Given the description of an element on the screen output the (x, y) to click on. 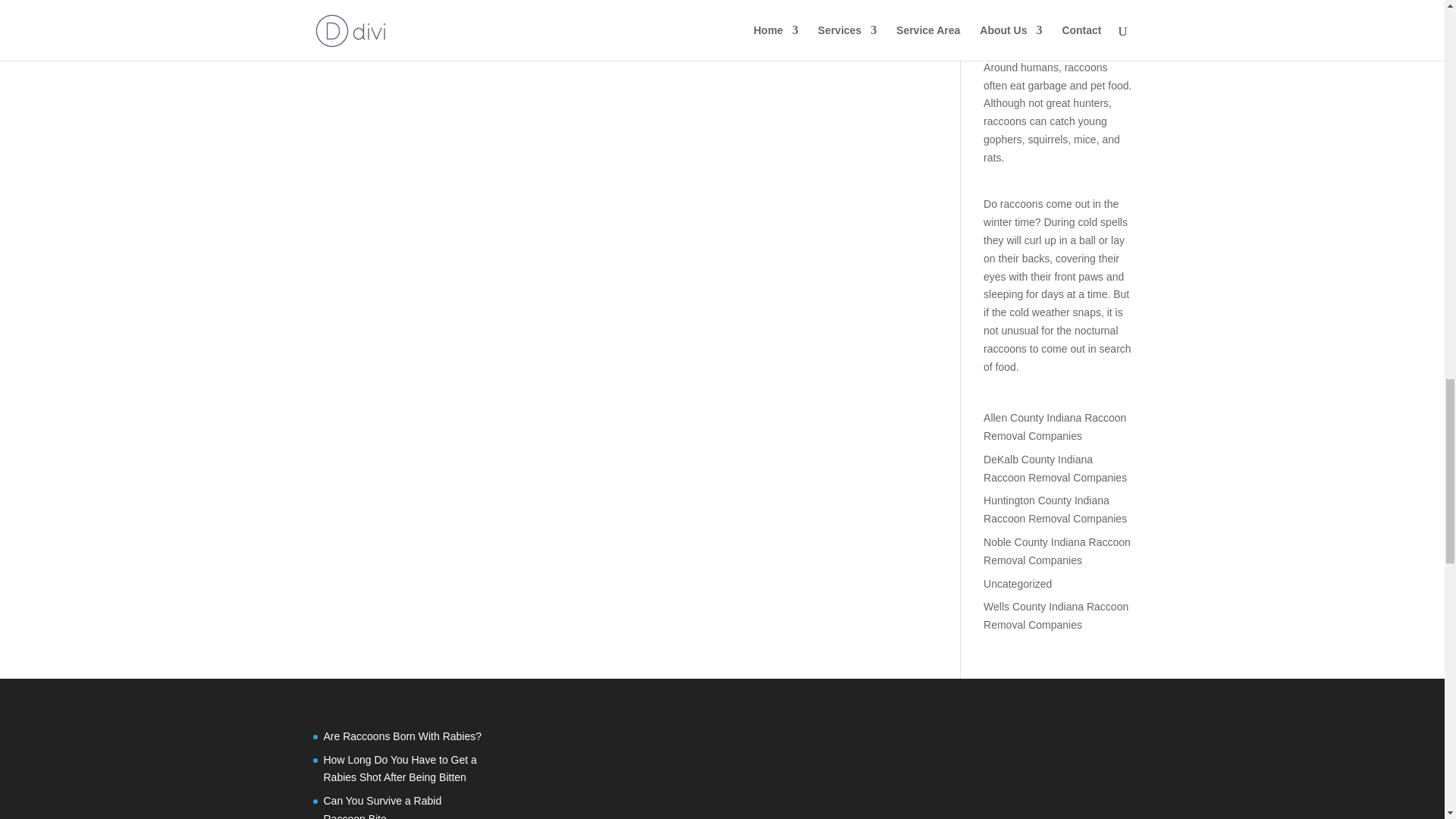
How Long Do You Have to Get a Rabies Shot After Being Bitten (399, 768)
Huntington County Indiana Raccoon Removal Companies (1055, 509)
Can You Survive a Rabid Raccoon Bite (382, 806)
Noble County Indiana Raccoon Removal Companies (1057, 551)
Uncategorized (1017, 583)
Wells County Indiana Raccoon Removal Companies (1056, 615)
Are Raccoons Born With Rabies? (402, 736)
DeKalb County Indiana Raccoon Removal Companies (1055, 468)
Allen County Indiana Raccoon Removal Companies (1054, 426)
